Given the description of an element on the screen output the (x, y) to click on. 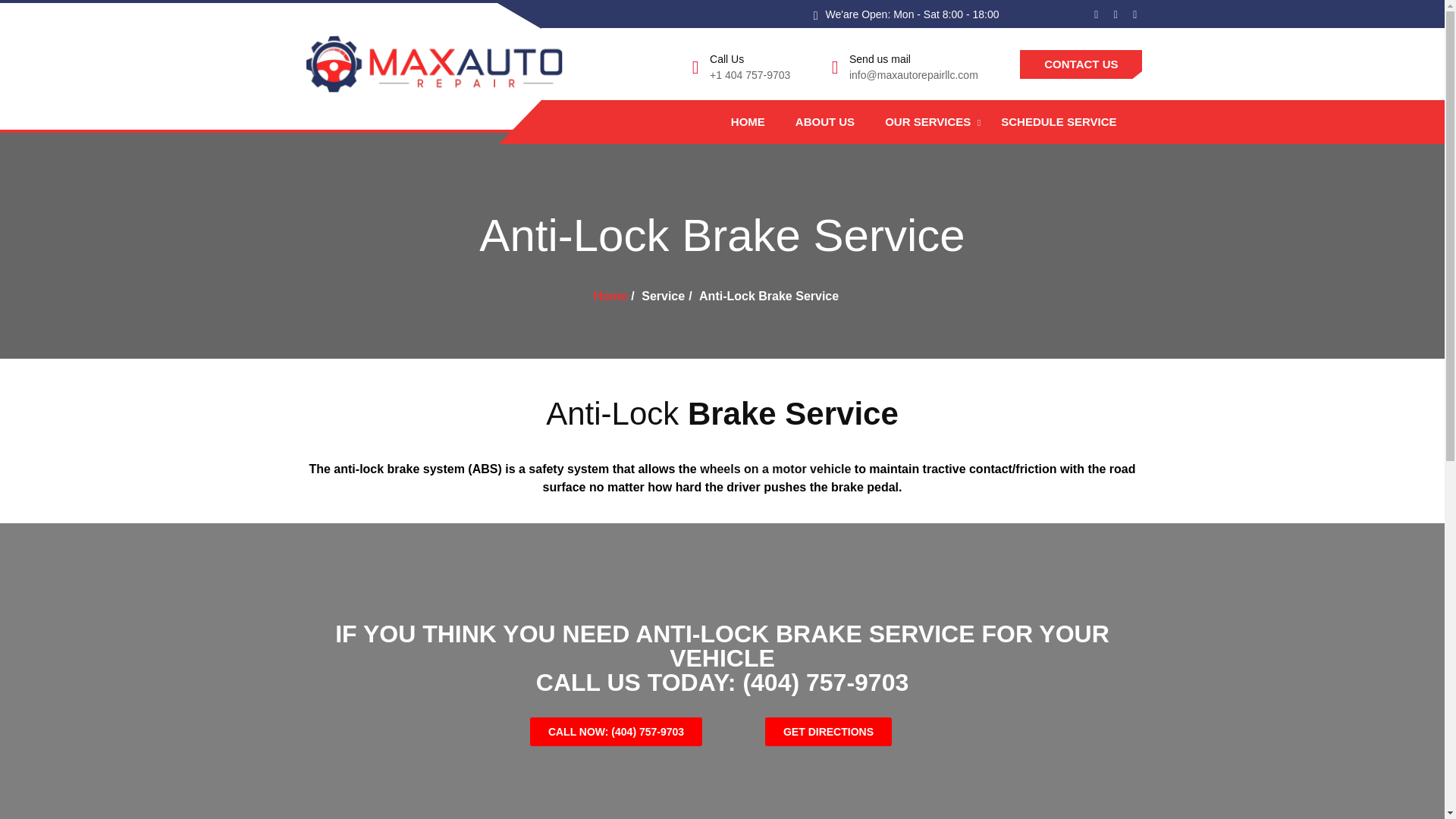
OUR SERVICES (927, 121)
SCHEDULE SERVICE (1058, 121)
ABOUT US (825, 121)
GET DIRECTIONS (828, 731)
wheels on a motor vehicle (775, 468)
Home (610, 295)
HOME (747, 121)
CONTACT US (1080, 64)
